Given the description of an element on the screen output the (x, y) to click on. 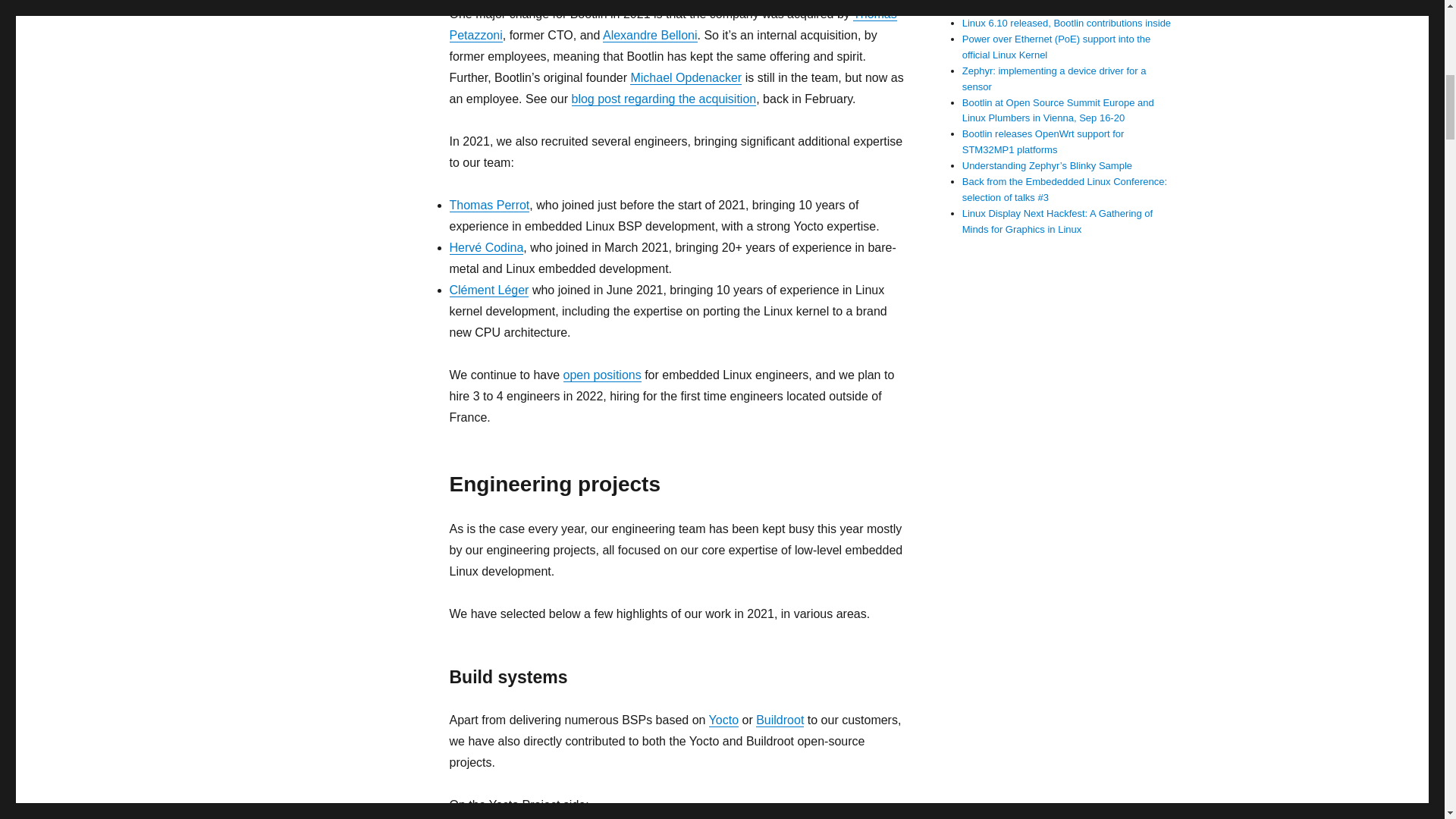
Thomas Petazzoni (672, 24)
open positions (602, 374)
Thomas Perrot (488, 205)
Alexandre Belloni (649, 34)
Yocto (723, 719)
Michael Opdenacker (685, 77)
blog post regarding the acquisition (664, 98)
Buildroot (779, 719)
